Given the description of an element on the screen output the (x, y) to click on. 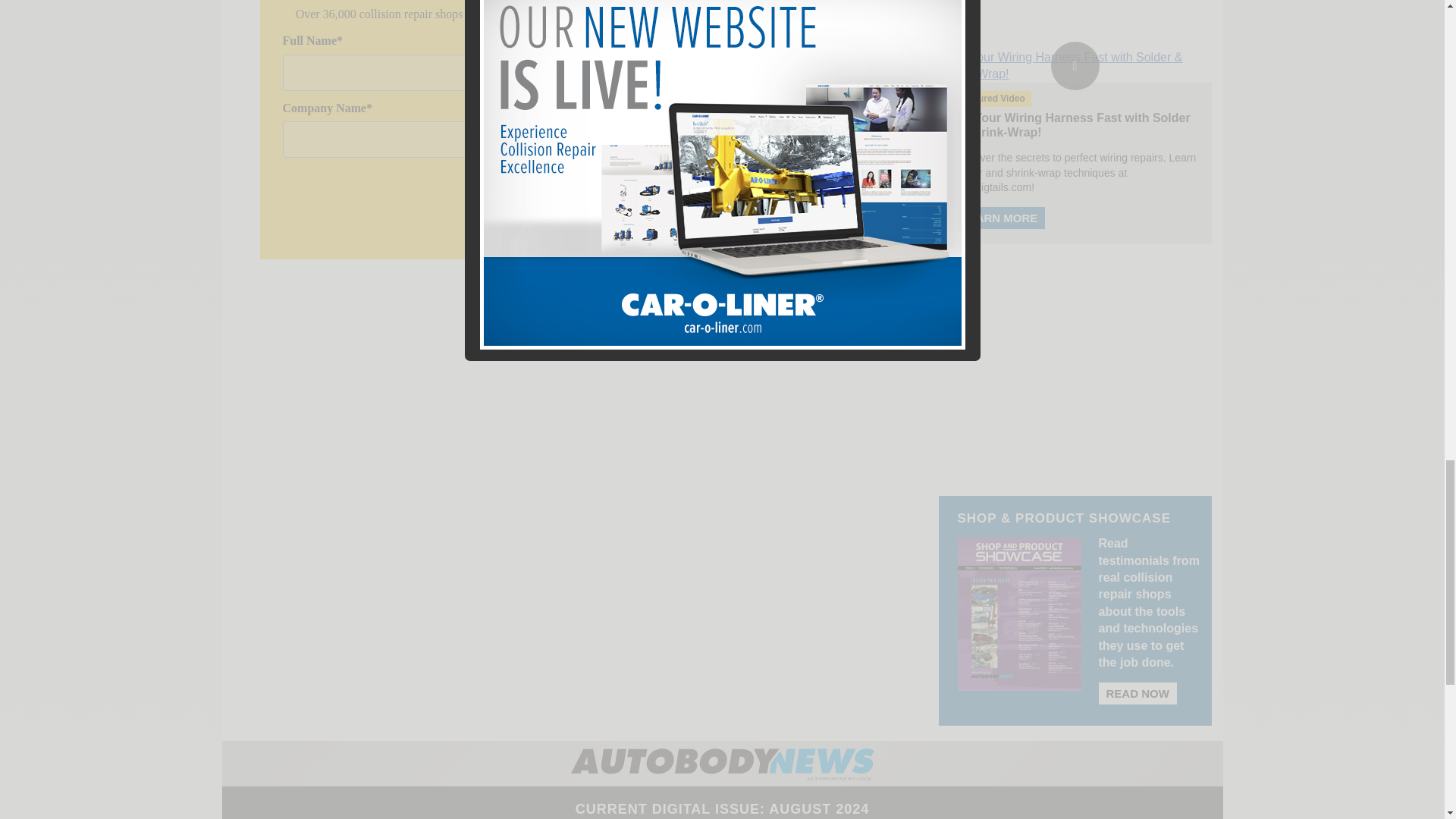
Watch Now (1075, 66)
3rd party ad content (1074, 4)
3rd party ad content (1074, 361)
